Given the description of an element on the screen output the (x, y) to click on. 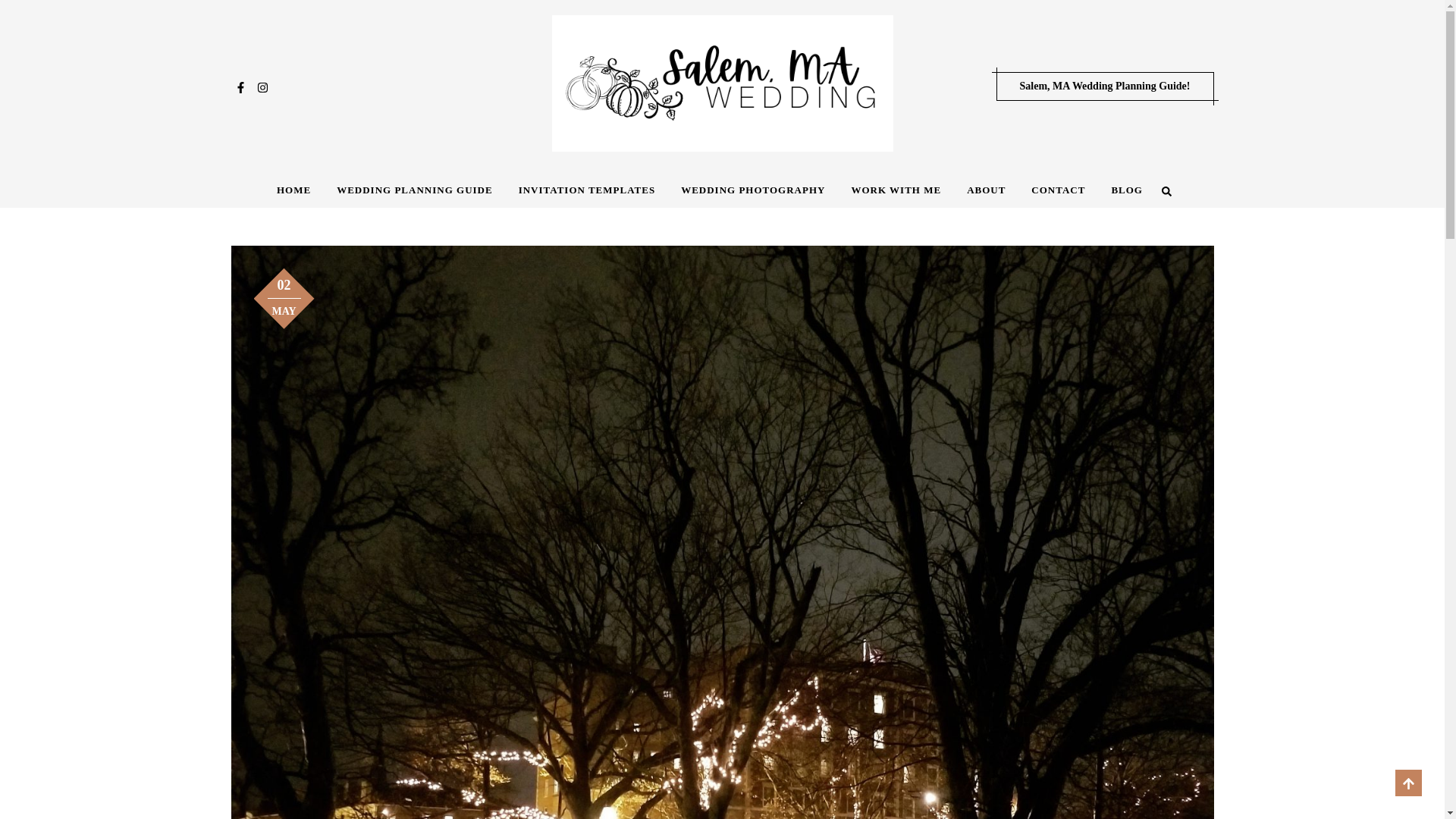
WORK WITH ME (895, 206)
WEDDING PHOTOGRAPHY (753, 206)
ABOUT (986, 203)
WEDDING PLANNING GUIDE (414, 208)
BLOG (1126, 198)
INVITATION TEMPLATES (587, 207)
HOME (293, 208)
CONTACT (1057, 202)
Salem, MA Wedding Planning Guide! (1104, 86)
